Given the description of an element on the screen output the (x, y) to click on. 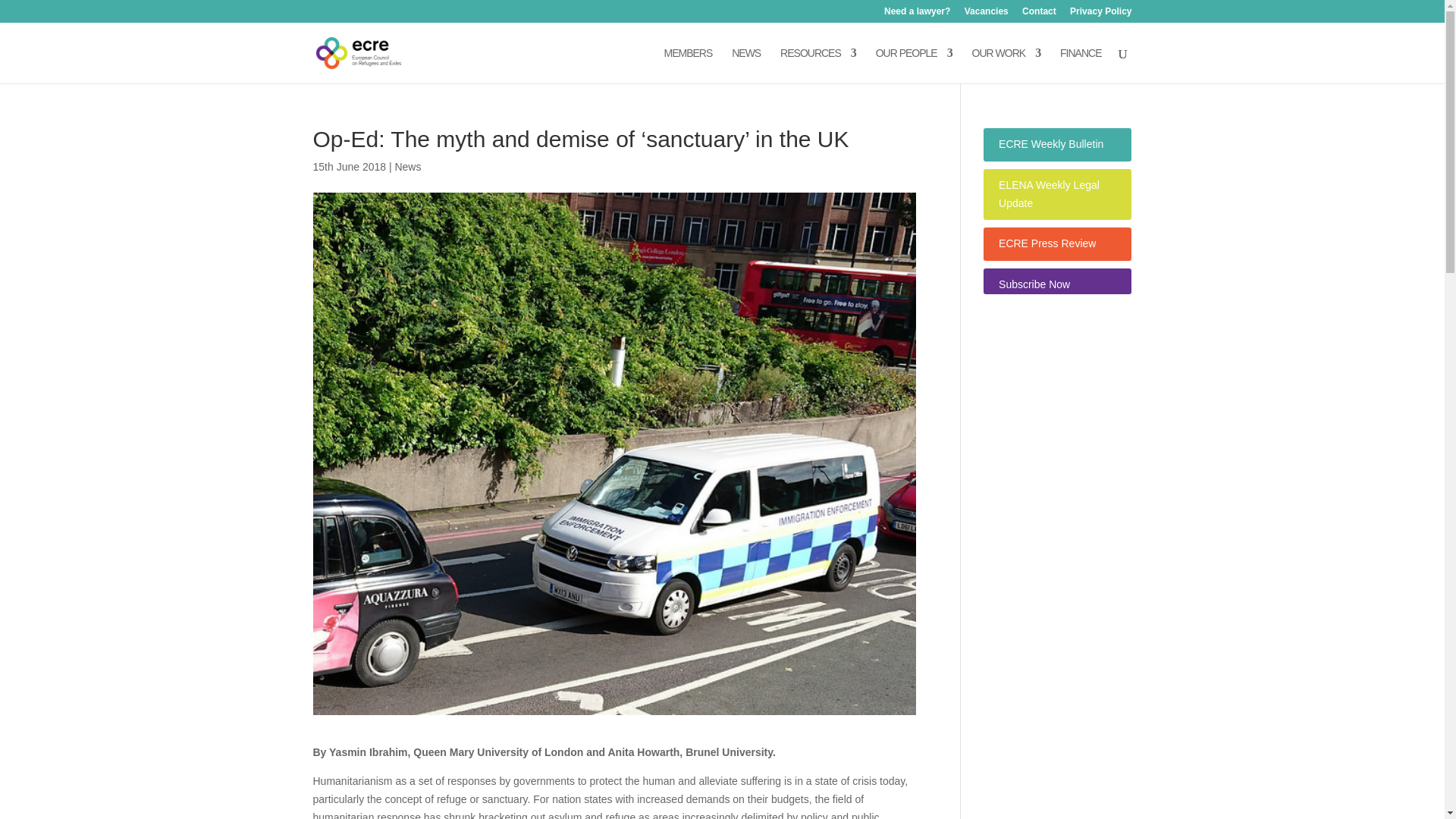
ECRE Press Review (1047, 243)
ECRE Weekly Bulletin (1050, 143)
Privacy Policy (1100, 14)
ELENA Weekly Legal Update (1048, 194)
FINANCE (1079, 65)
Need a lawyer? (916, 14)
RESOURCES (818, 65)
Vacancies (986, 14)
Subscribe Now (1034, 284)
OUR PEOPLE (914, 65)
